Given the description of an element on the screen output the (x, y) to click on. 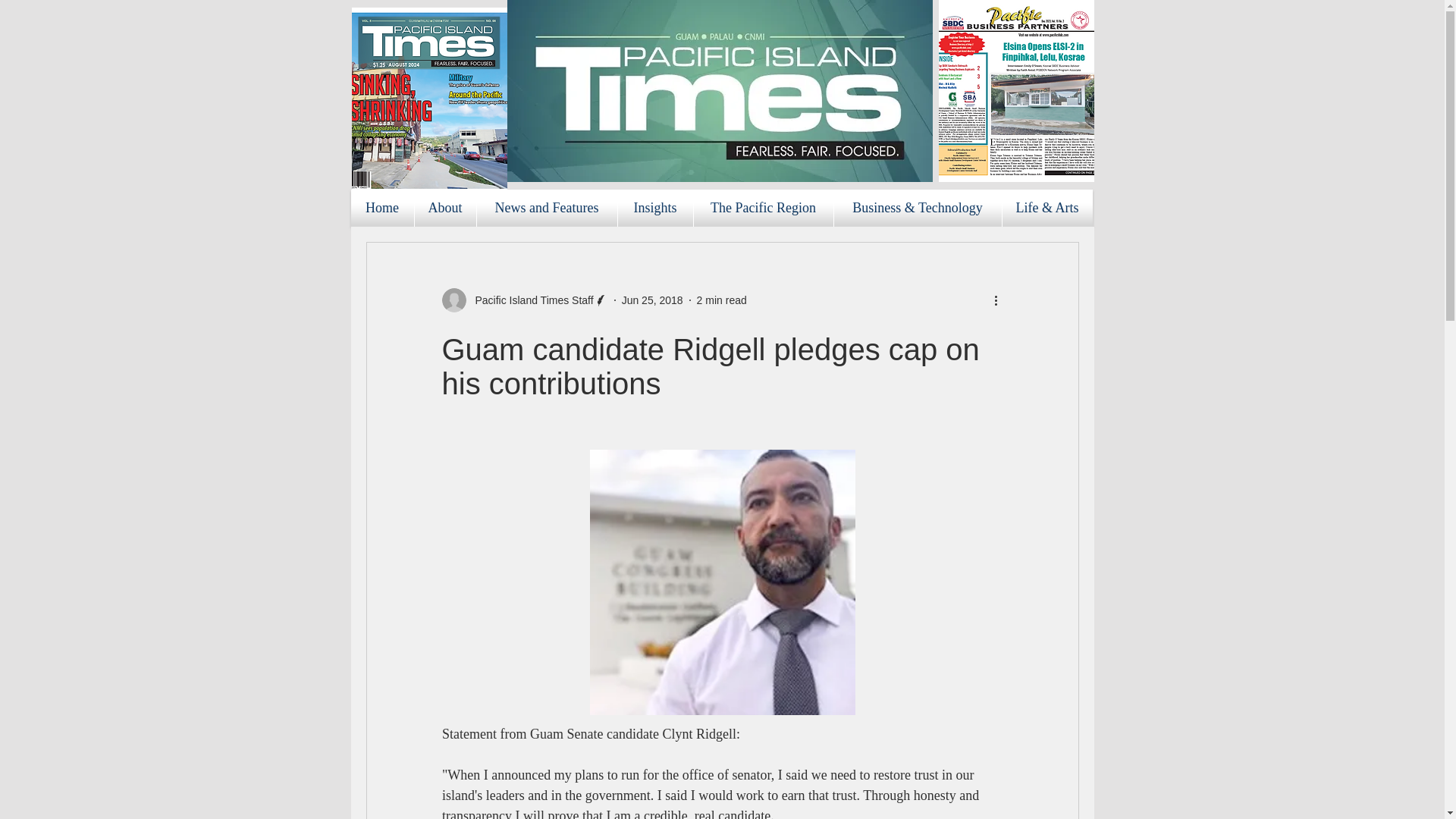
Pacific Island Times Staff (528, 300)
Home (381, 207)
Jun 25, 2018 (651, 300)
News and Features (545, 207)
The Pacific Region (762, 207)
2 min read (721, 300)
About (444, 207)
Insights (655, 207)
